Given the description of an element on the screen output the (x, y) to click on. 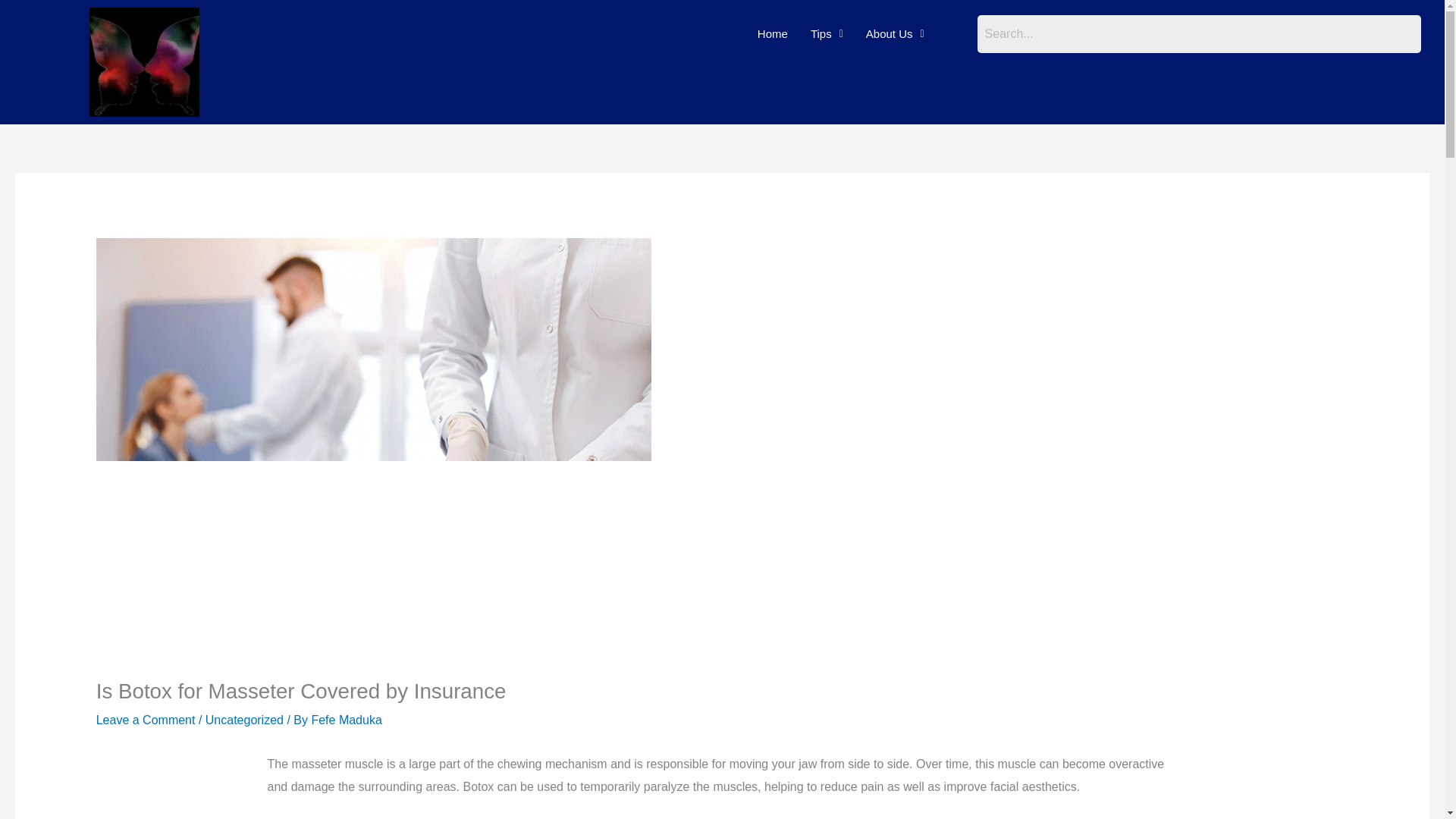
View all posts by Fefe Maduka (346, 719)
Fefe Maduka (346, 719)
Tips (826, 33)
Search (1198, 34)
About Us (895, 33)
Uncategorized (244, 719)
Leave a Comment (145, 719)
Home (772, 33)
